Given the description of an element on the screen output the (x, y) to click on. 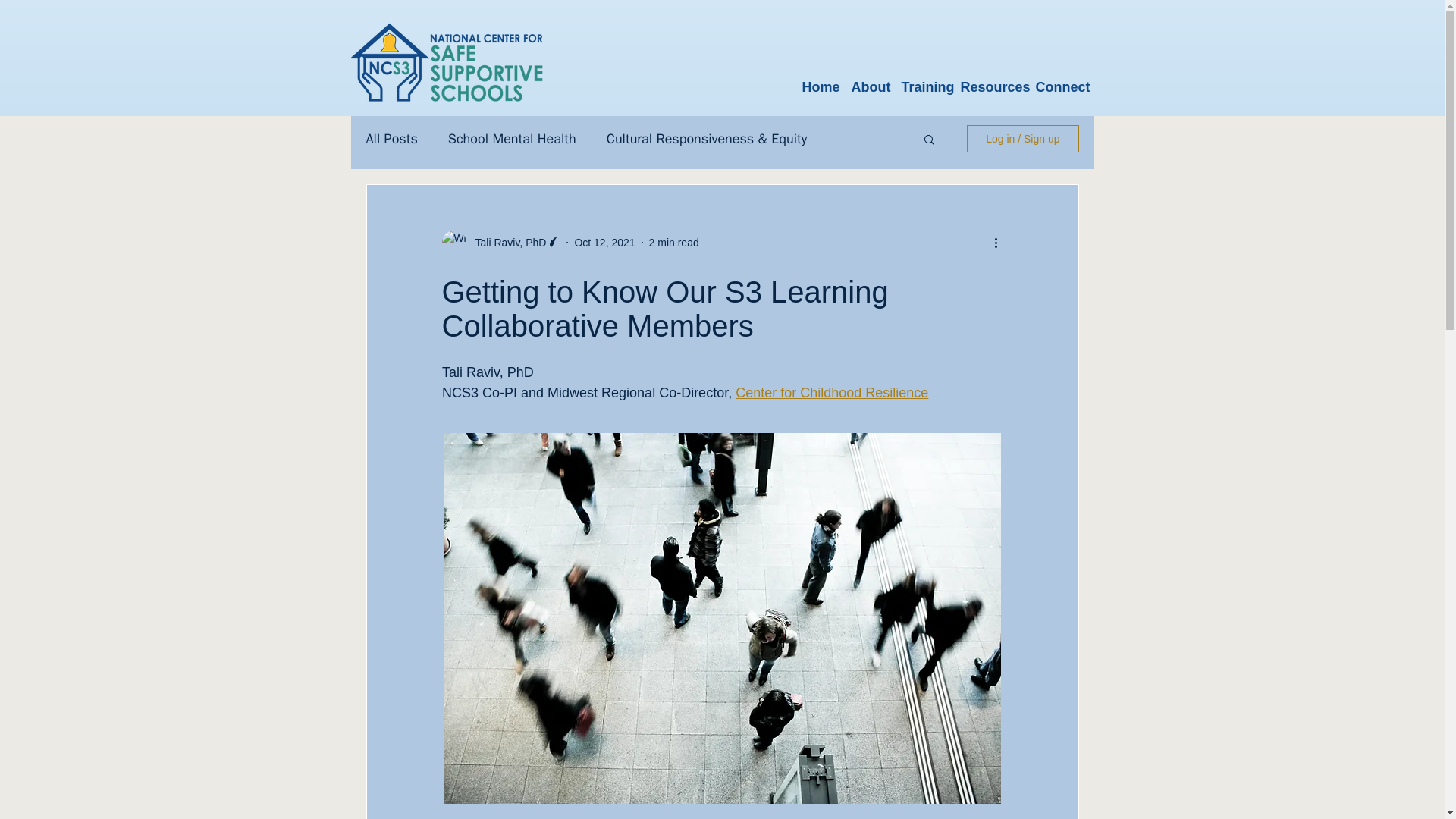
Center for Childhood Resilience (831, 392)
Oct 12, 2021 (603, 242)
All Posts (390, 138)
2 min read (673, 242)
About (869, 80)
Connect (1061, 80)
Resources (991, 80)
Home (820, 80)
Tali Raviv, PhD (505, 242)
School Mental Health (512, 138)
Training (924, 80)
